Given the description of an element on the screen output the (x, y) to click on. 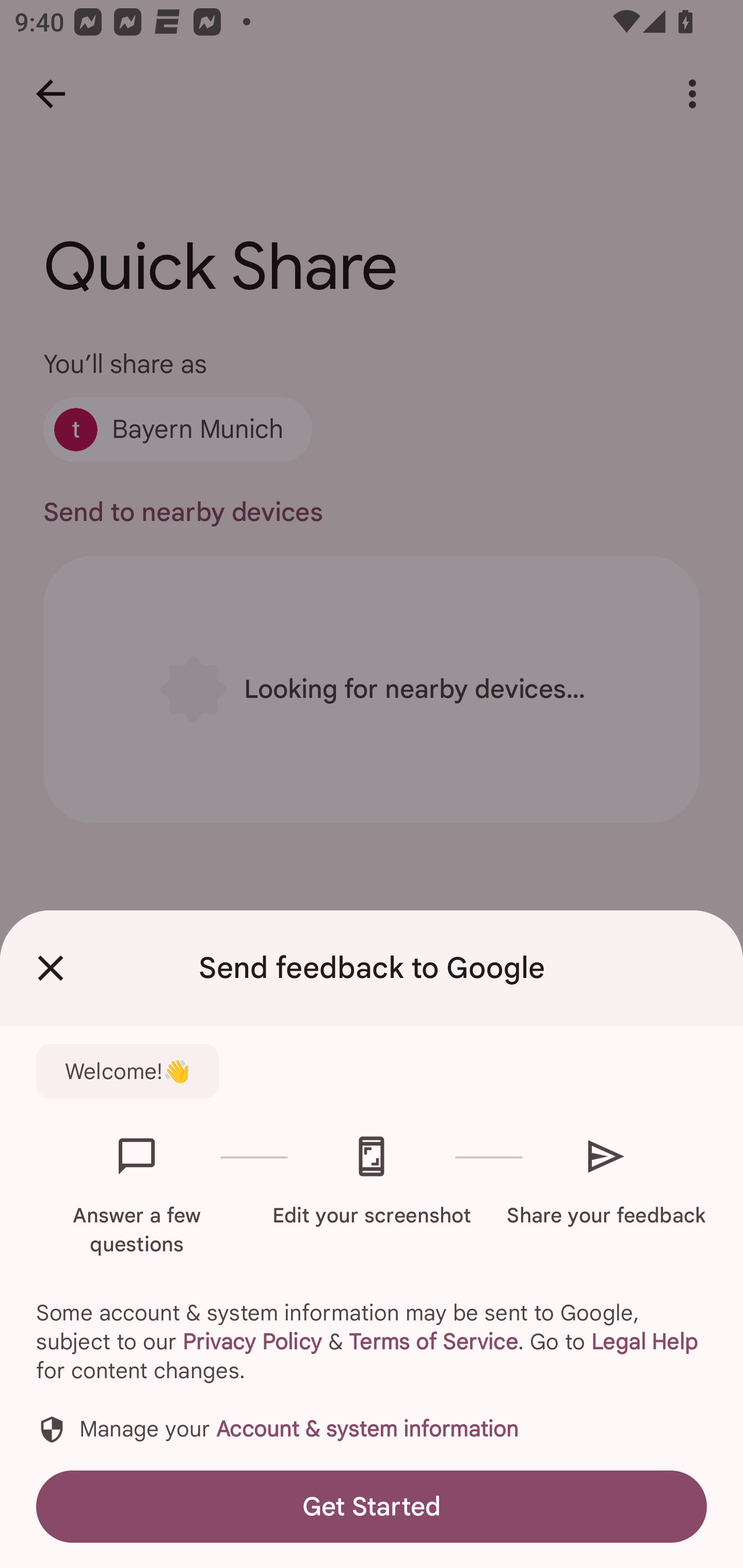
Close Feedback (50, 968)
Get Started (371, 1505)
